Given the description of an element on the screen output the (x, y) to click on. 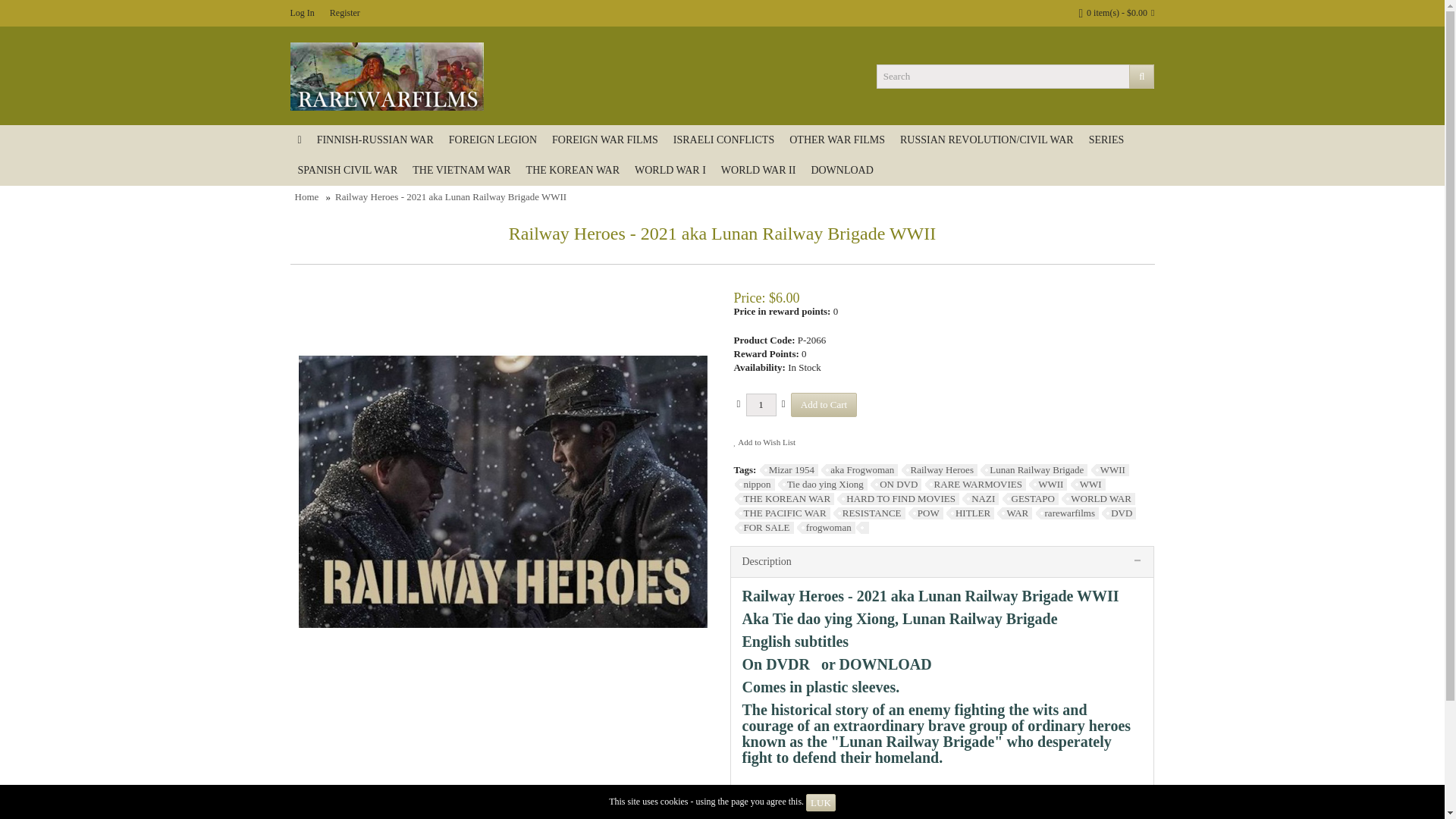
ON DVD (895, 484)
Log In (301, 13)
Register (344, 13)
THE VIETNAM WAR (461, 170)
THE KOREAN WAR (572, 170)
OTHER WAR FILMS (836, 140)
SPANISH CIVIL WAR (346, 170)
Railway Heroes (938, 469)
SERIES (1106, 140)
Railway Heroes - 2021 aka Lunan Railway Brigade WWII (450, 196)
